Given the description of an element on the screen output the (x, y) to click on. 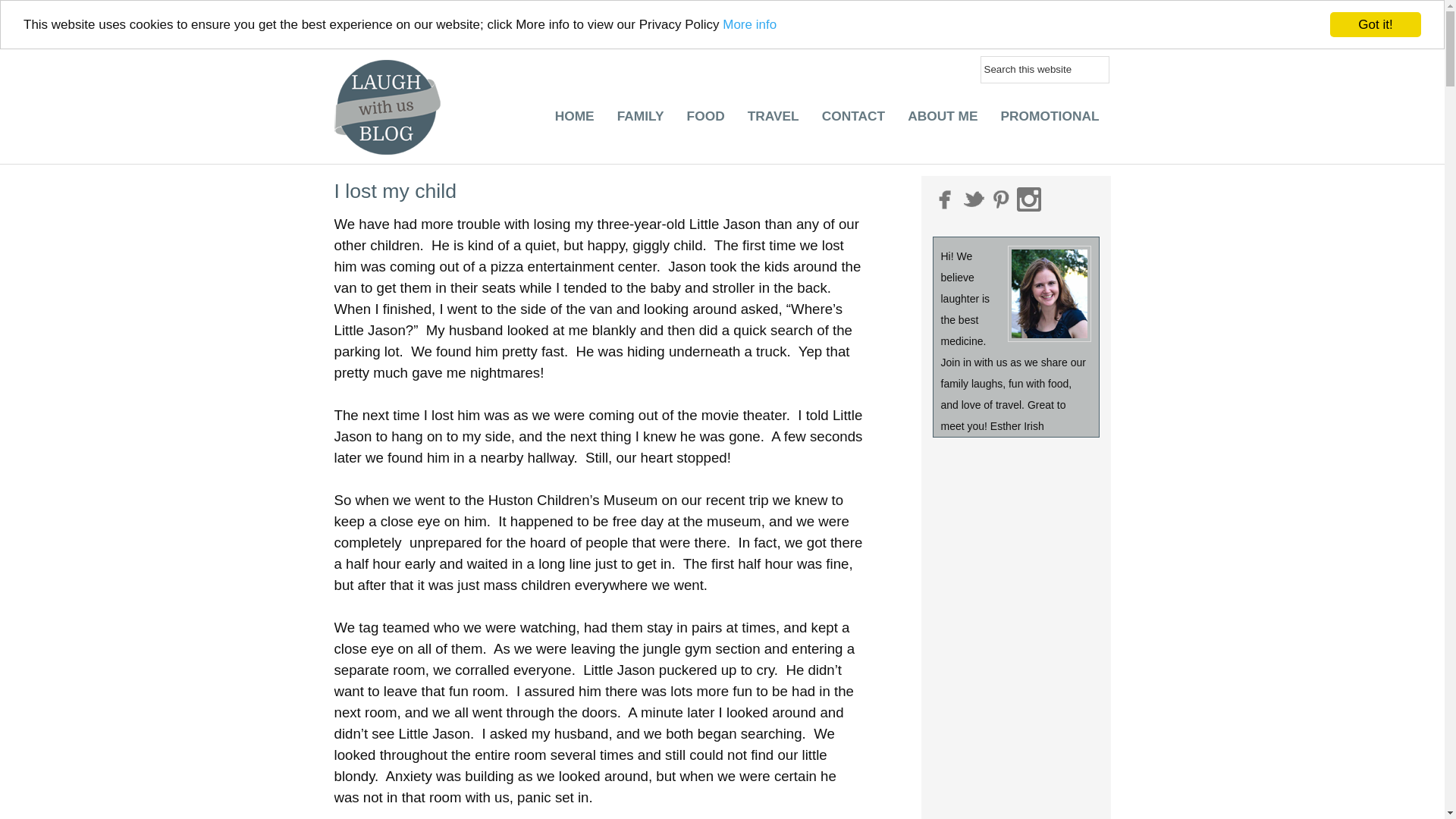
FOOD (705, 119)
HOME (574, 105)
TRAVEL (773, 119)
Laugh With Us Blog (389, 83)
PROMOTIONAL (1050, 119)
ABOUT ME (942, 119)
FAMILY (640, 107)
CONTACT (853, 119)
